Given the description of an element on the screen output the (x, y) to click on. 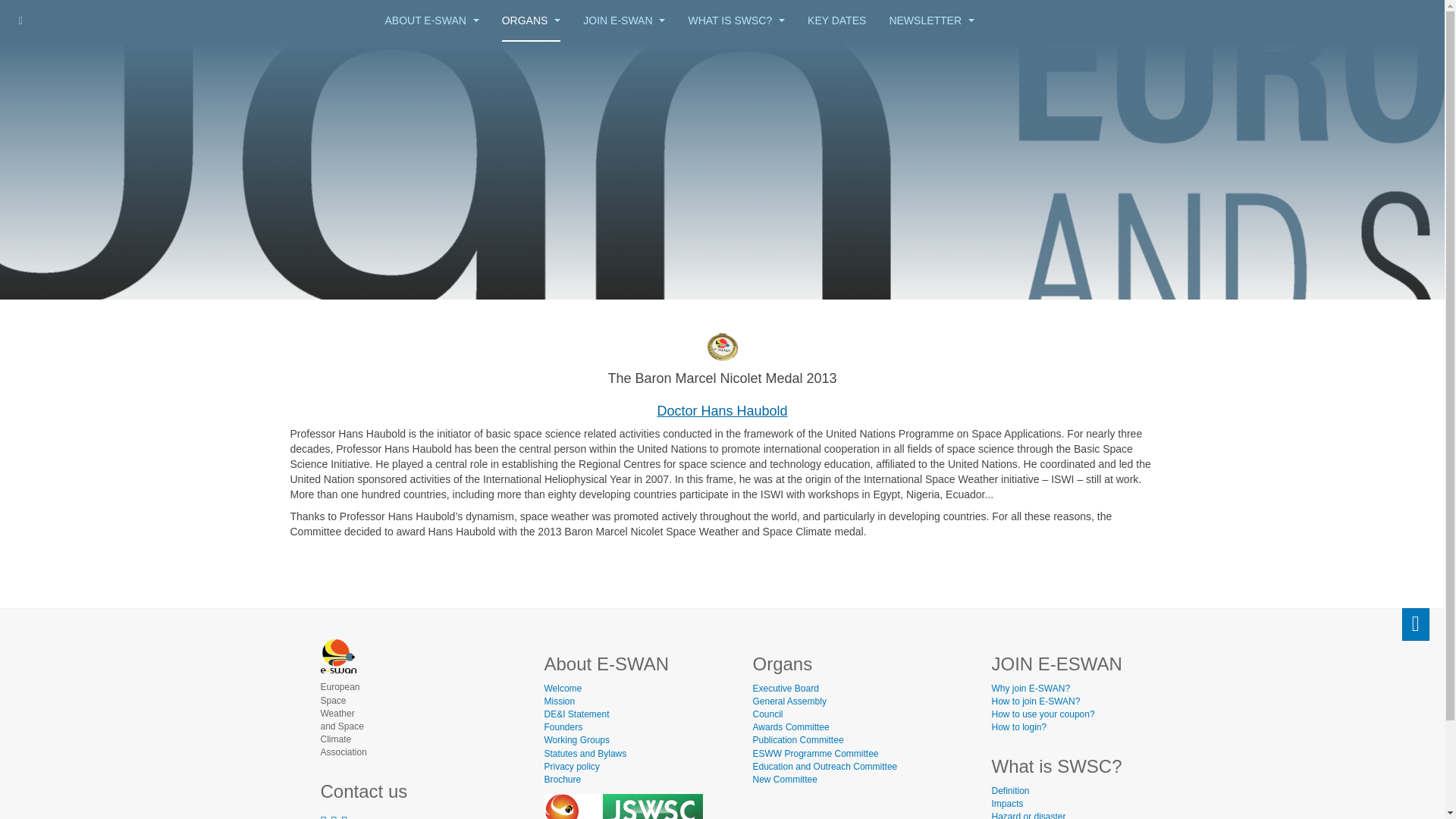
E-SWAN (325, 12)
